Given the description of an element on the screen output the (x, y) to click on. 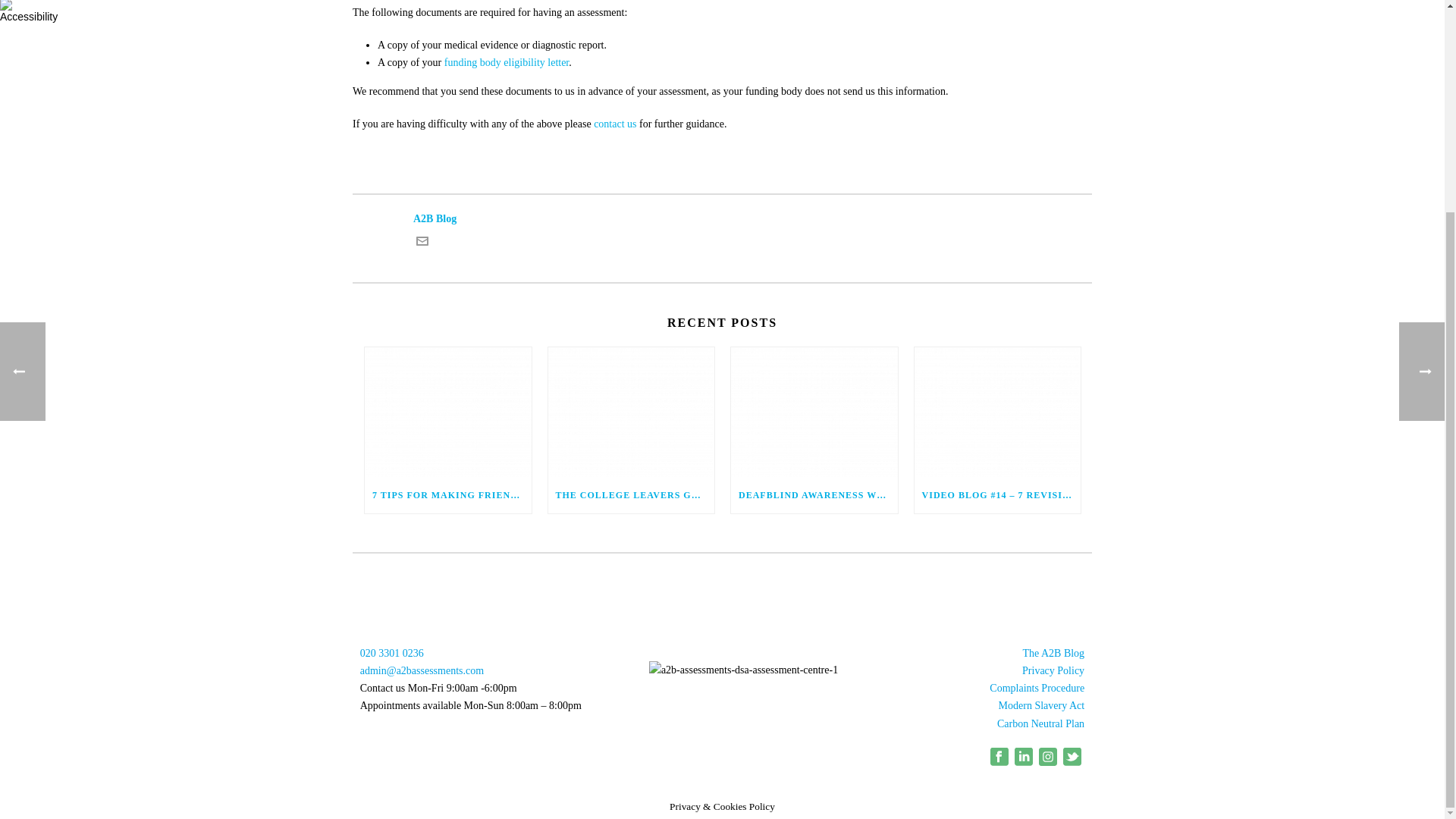
funding body eligibility letter (506, 61)
 twitter (1071, 762)
Privacy Policy (1053, 670)
Get in touch with me via email (422, 243)
Complaints Procedure (1037, 687)
020 3301 0236 (391, 653)
 facebook (999, 762)
Deafblind Awareness Week: DSA Support (814, 411)
A2B Blog (722, 218)
Carbon Neutral Plan (1040, 723)
